Given the description of an element on the screen output the (x, y) to click on. 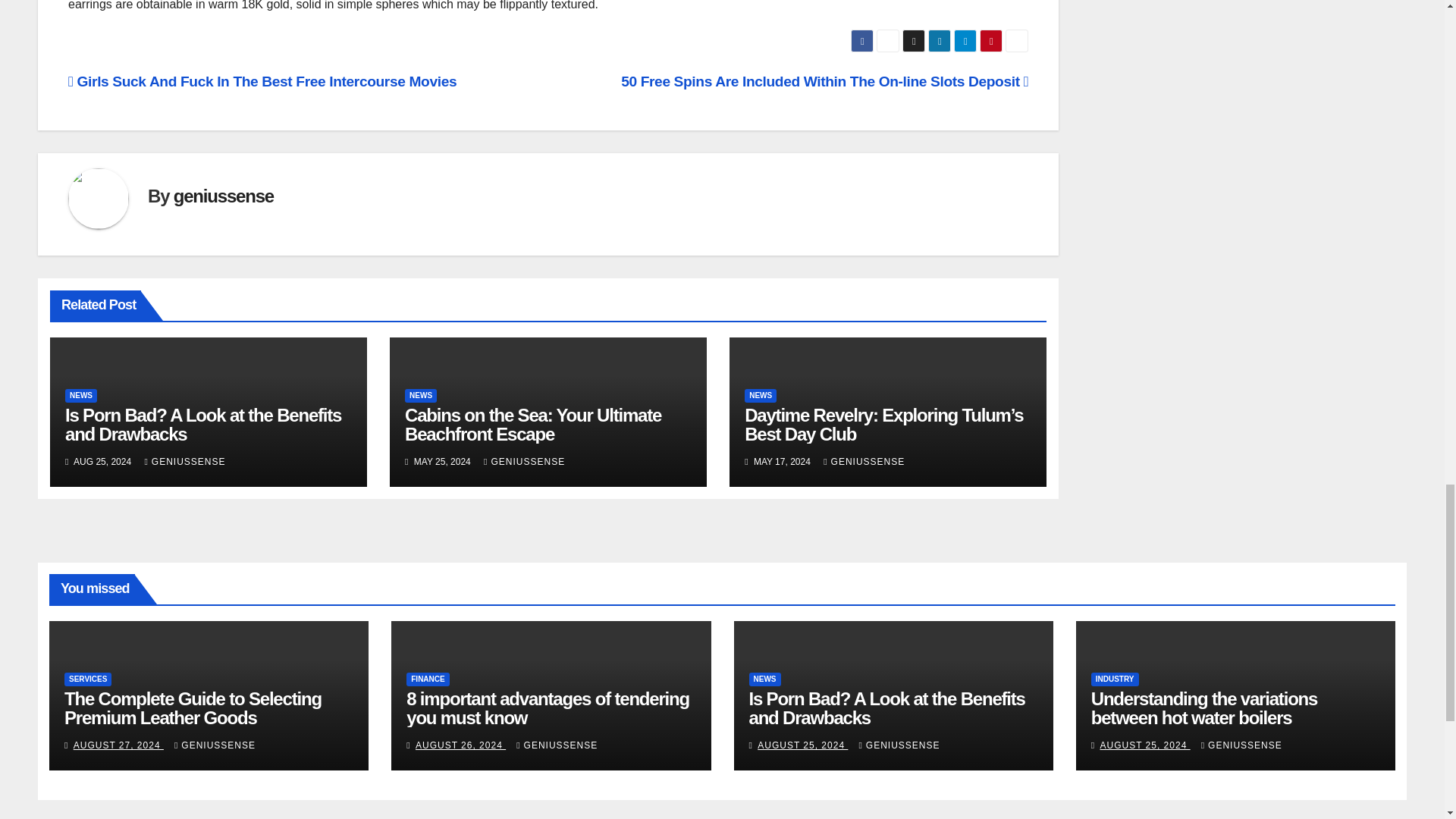
50 Free Spins Are Included Within The On-line Slots Deposit (824, 81)
AUGUST 27, 2024 (118, 745)
Girls Suck And Fuck In The Best Free Intercourse Movies (262, 81)
GENIUSSENSE (523, 461)
NEWS (81, 395)
NEWS (420, 395)
GENIUSSENSE (184, 461)
